Given the description of an element on the screen output the (x, y) to click on. 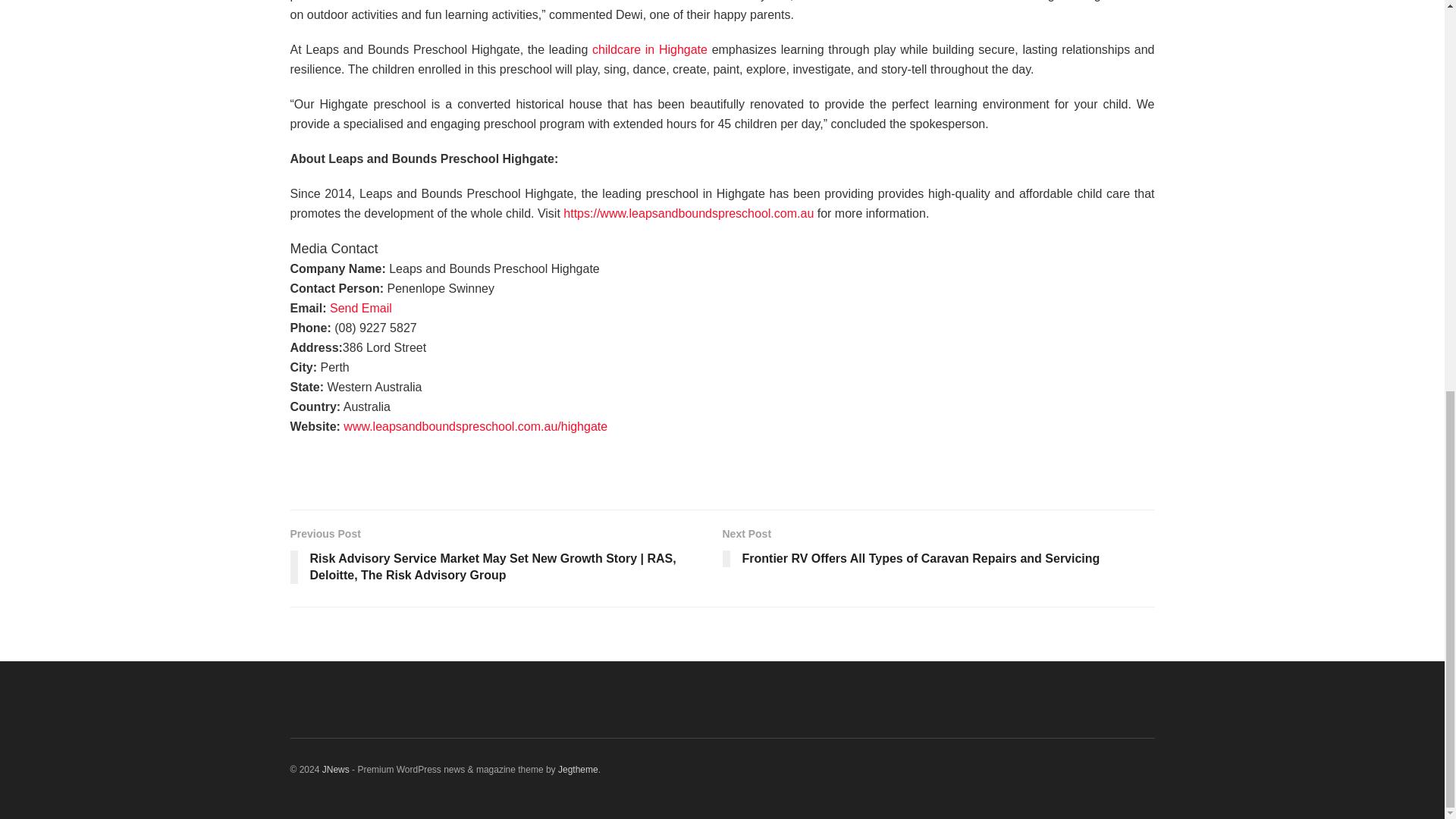
Jegtheme (577, 769)
JNews (335, 769)
childcare in Highgate (649, 49)
Send Email (360, 308)
Jegtheme (577, 769)
